Given the description of an element on the screen output the (x, y) to click on. 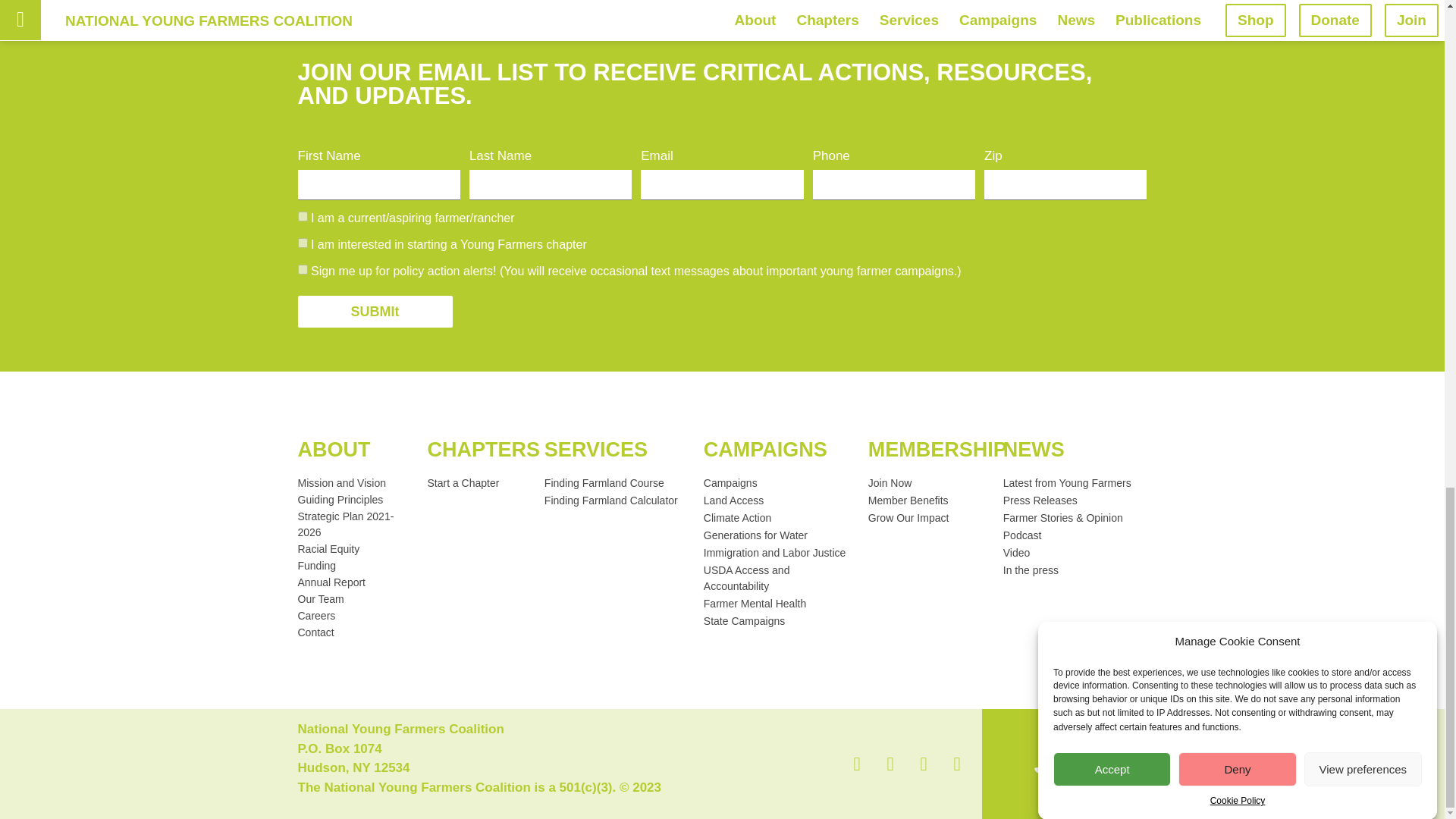
I am interested in starting a Young Farmers chapter (302, 243)
